Given the description of an element on the screen output the (x, y) to click on. 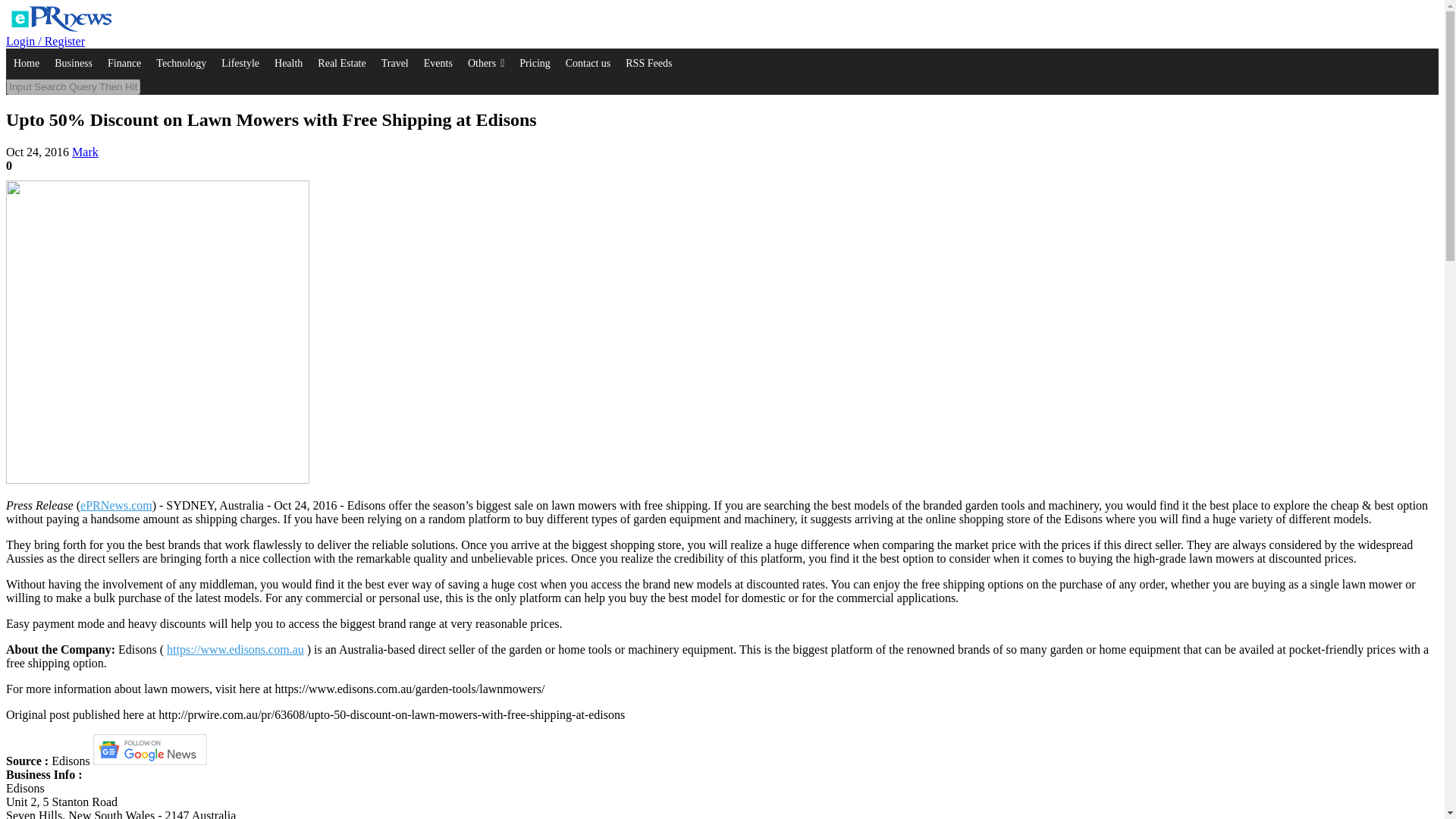
Travel (395, 63)
ePRNews.com (116, 504)
Home (25, 63)
Finance (124, 63)
Lifestyle (240, 63)
Real Estate (341, 63)
Contact us (587, 63)
Others (486, 63)
Health (288, 63)
Technology (181, 63)
RSS Feeds (648, 63)
Pricing (534, 63)
Events (438, 63)
Business (73, 63)
Mark (85, 151)
